Given the description of an element on the screen output the (x, y) to click on. 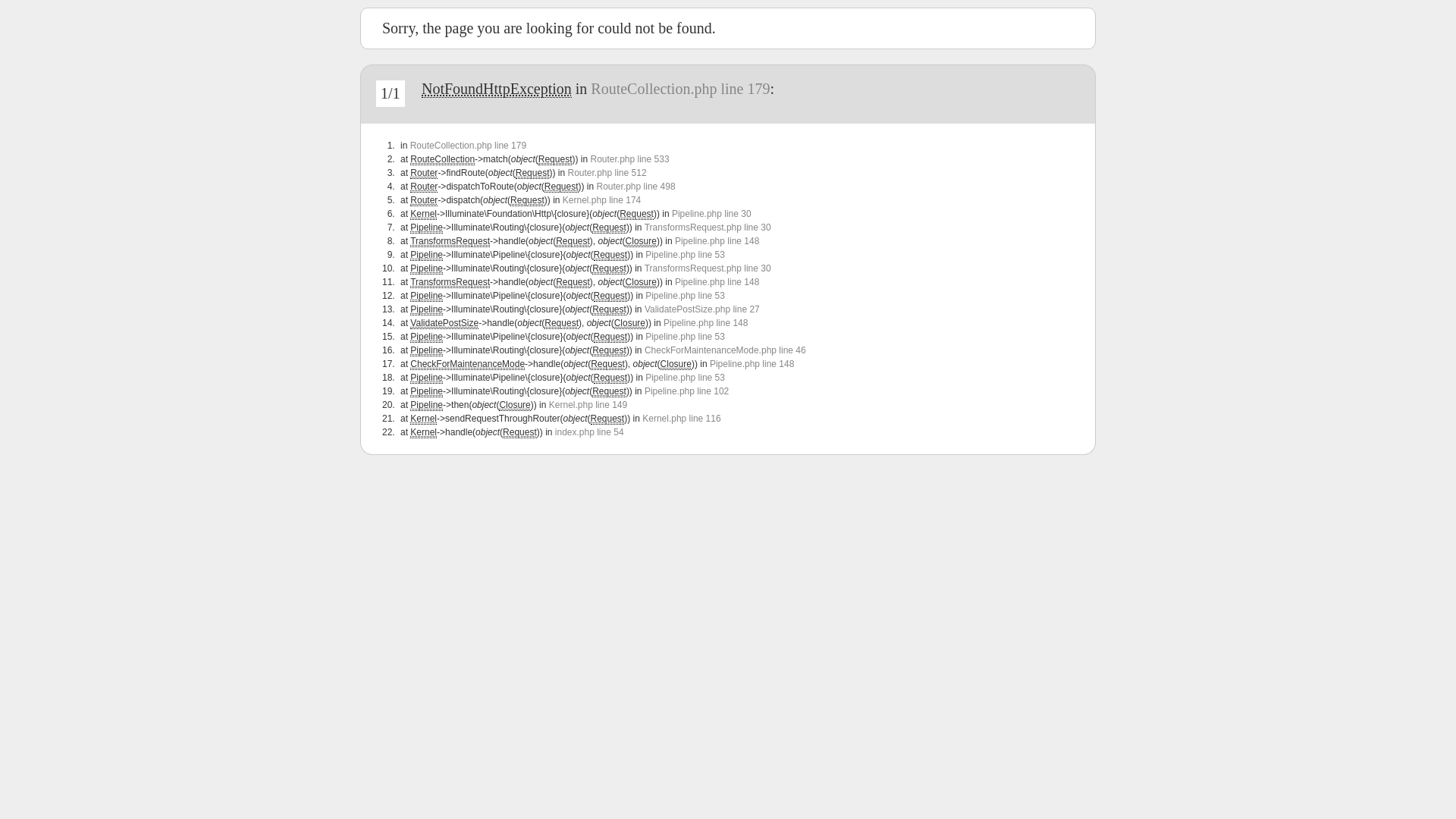
Pipeline.php line 148 Element type: text (716, 240)
index.php line 54 Element type: text (589, 431)
RouteCollection.php line 179 Element type: text (679, 88)
Pipeline.php line 53 Element type: text (684, 254)
Kernel.php line 174 Element type: text (601, 199)
Pipeline.php line 148 Element type: text (716, 281)
Pipeline.php line 53 Element type: text (684, 377)
Pipeline.php line 148 Element type: text (751, 363)
Pipeline.php line 148 Element type: text (705, 322)
Router.php line 512 Element type: text (606, 172)
Kernel.php line 116 Element type: text (681, 418)
ValidatePostSize.php line 27 Element type: text (701, 309)
CheckForMaintenanceMode.php line 46 Element type: text (725, 350)
RouteCollection.php line 179 Element type: text (468, 145)
Pipeline.php line 102 Element type: text (686, 390)
Router.php line 533 Element type: text (628, 158)
Pipeline.php line 53 Element type: text (684, 295)
Pipeline.php line 30 Element type: text (711, 213)
Kernel.php line 149 Element type: text (588, 404)
Router.php line 498 Element type: text (635, 186)
TransformsRequest.php line 30 Element type: text (707, 227)
Pipeline.php line 53 Element type: text (684, 336)
TransformsRequest.php line 30 Element type: text (707, 268)
